Given the description of an element on the screen output the (x, y) to click on. 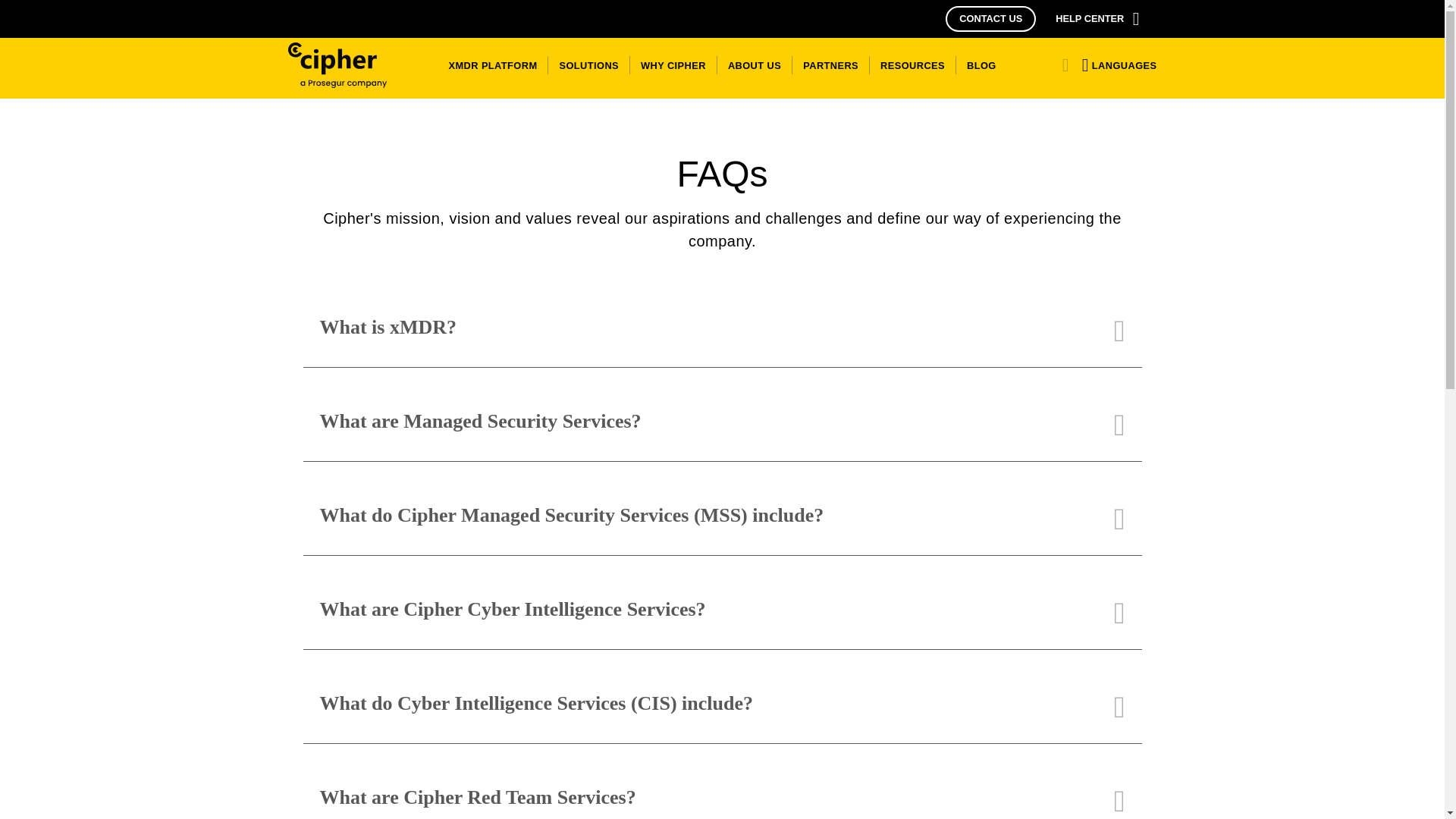
HELP CENTER (1099, 18)
ABOUT US (754, 64)
What is xMDR? (721, 329)
CONTACT US (989, 18)
BLOG (977, 64)
PARTNERS (830, 64)
RESOURCES (912, 64)
XMDR PLATFORM (492, 64)
SOLUTIONS (588, 64)
LANGUAGES (1116, 64)
WHY CIPHER (672, 64)
